Given the description of an element on the screen output the (x, y) to click on. 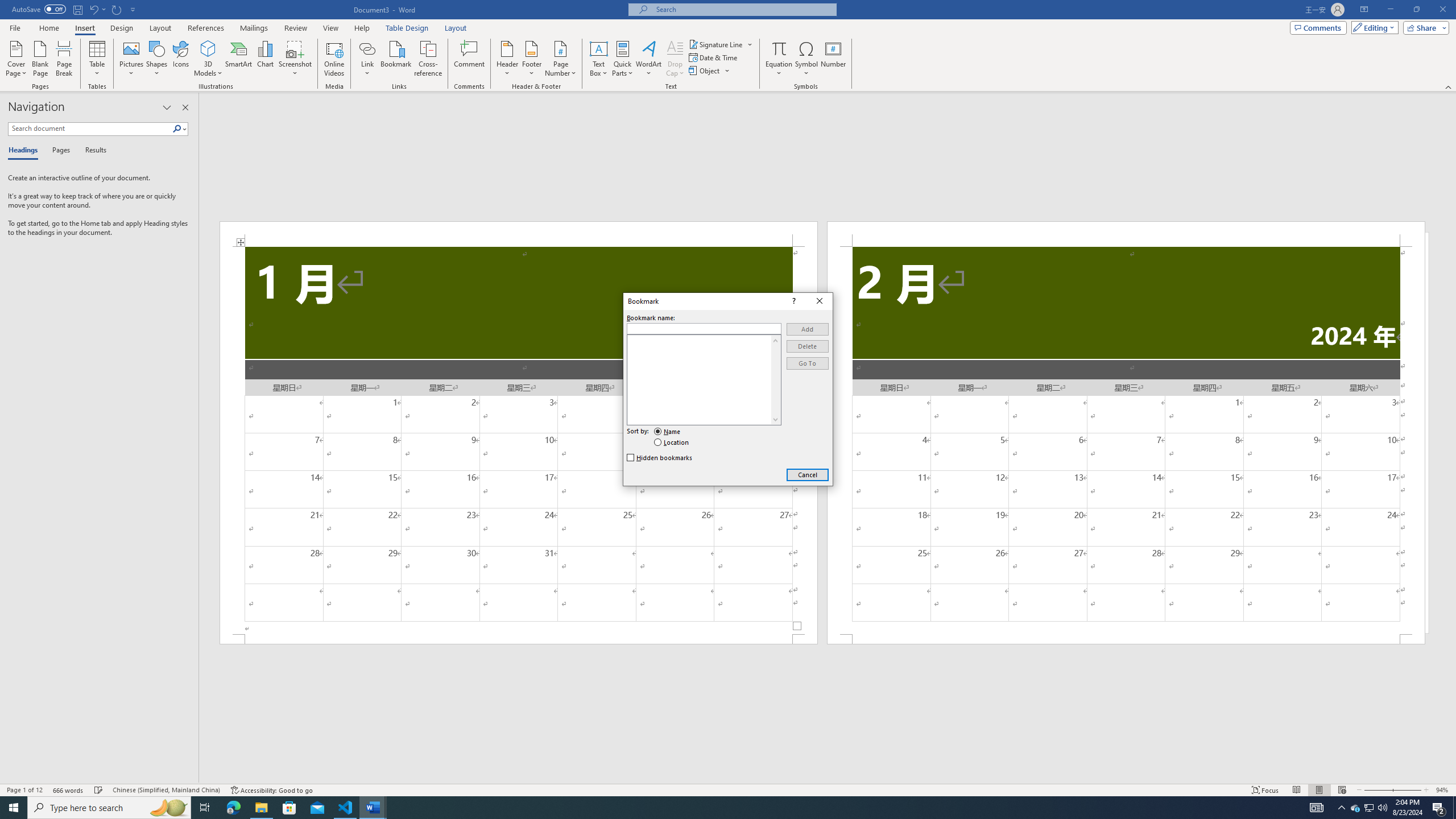
Context help (793, 301)
WordArt (648, 58)
Number... (833, 58)
Class: NetUIScrollBar (827, 778)
Object... (705, 69)
Microsoft Store (289, 807)
Cross-reference... (428, 58)
Online Videos... (333, 58)
Date & Time... (714, 56)
Line up (775, 340)
Bookmark... (396, 58)
AutomationID: 4105 (1316, 807)
